Given the description of an element on the screen output the (x, y) to click on. 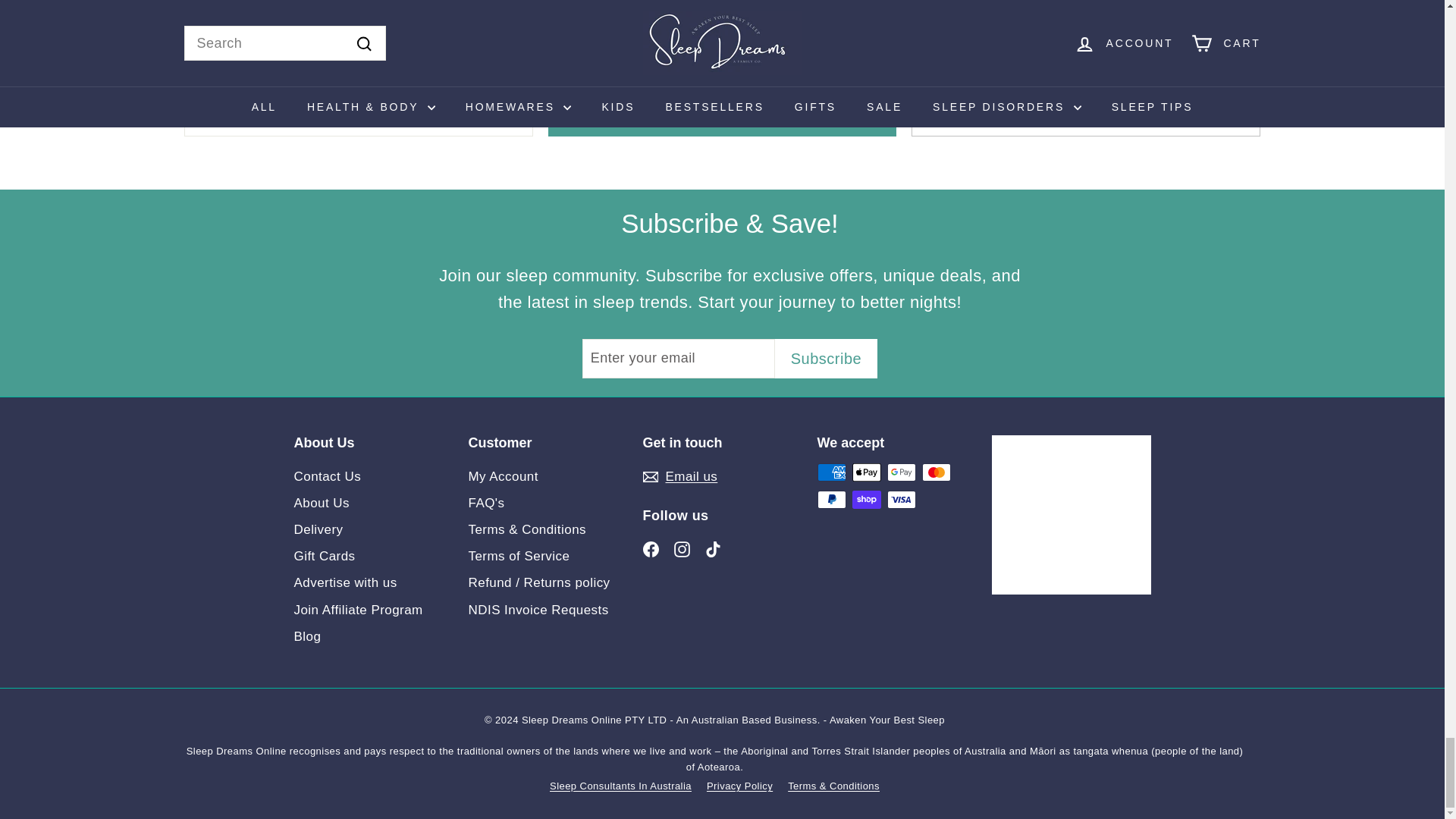
American Express (830, 472)
PayPal (830, 499)
instagram (682, 549)
Mastercard (935, 472)
Google Pay (900, 472)
Shop Pay (865, 499)
Apple Pay (865, 472)
Visa (900, 499)
